Given the description of an element on the screen output the (x, y) to click on. 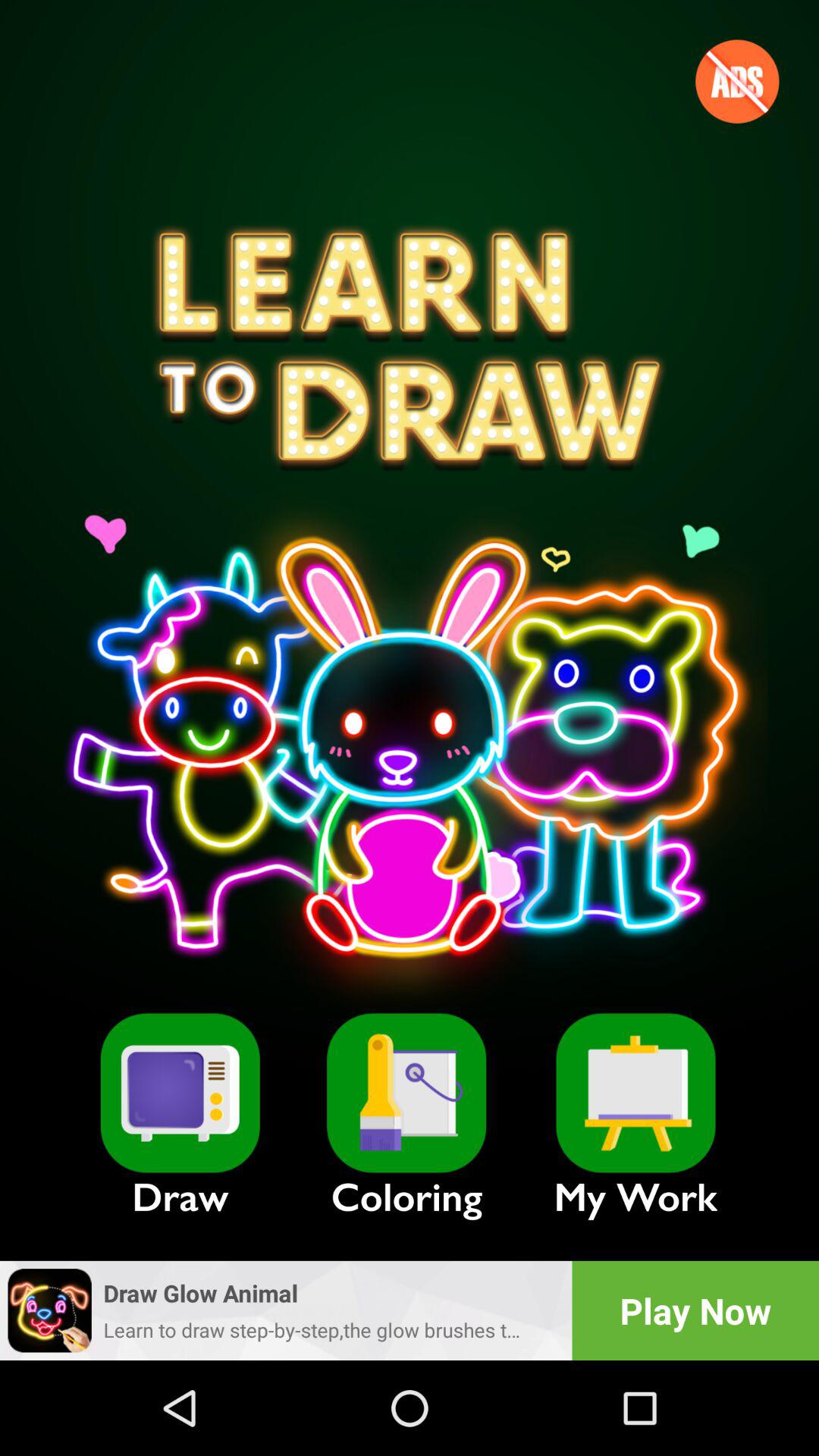
turn off advertisements (737, 81)
